Given the description of an element on the screen output the (x, y) to click on. 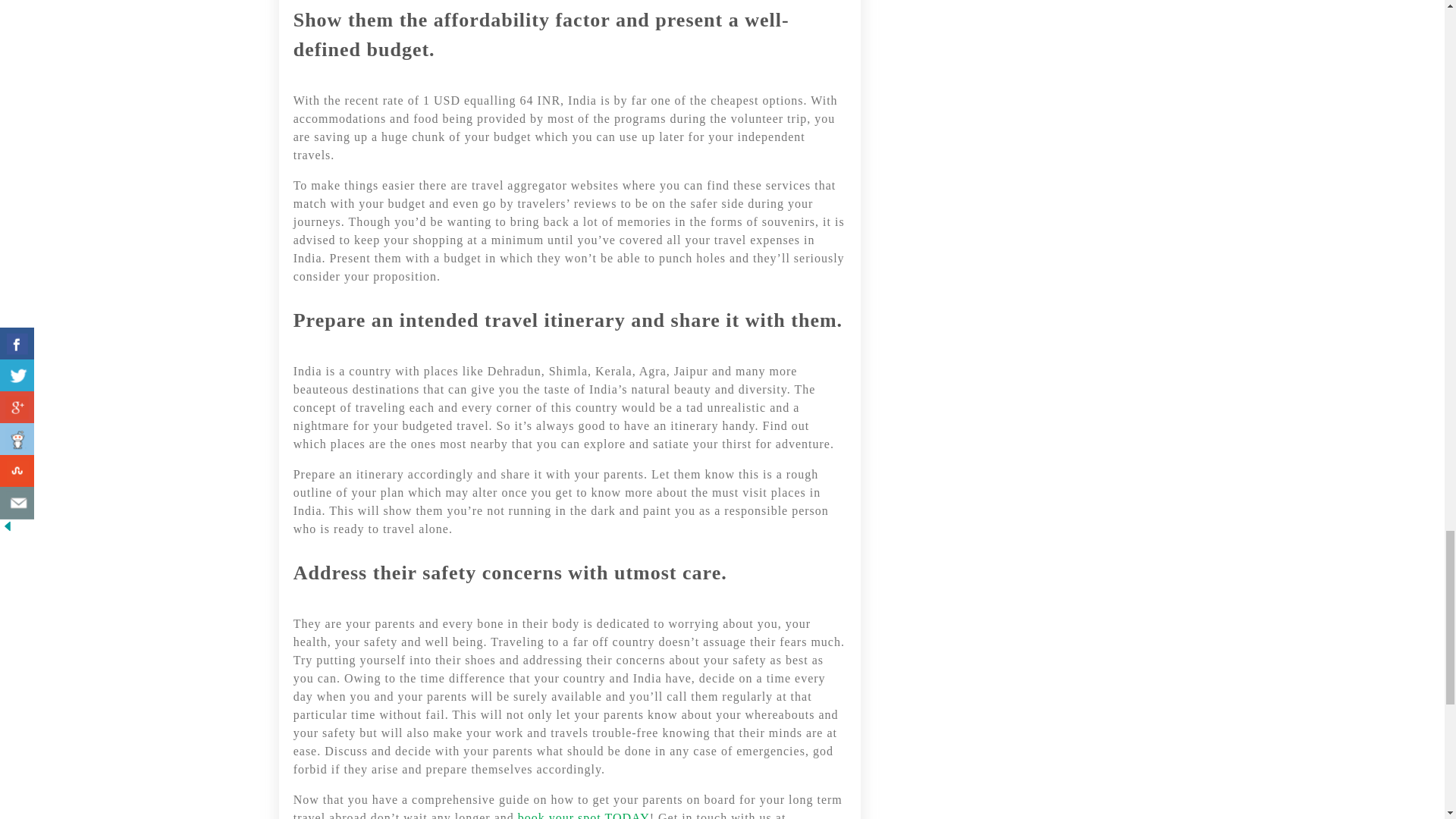
book your spot TODAY (583, 815)
